Given the description of an element on the screen output the (x, y) to click on. 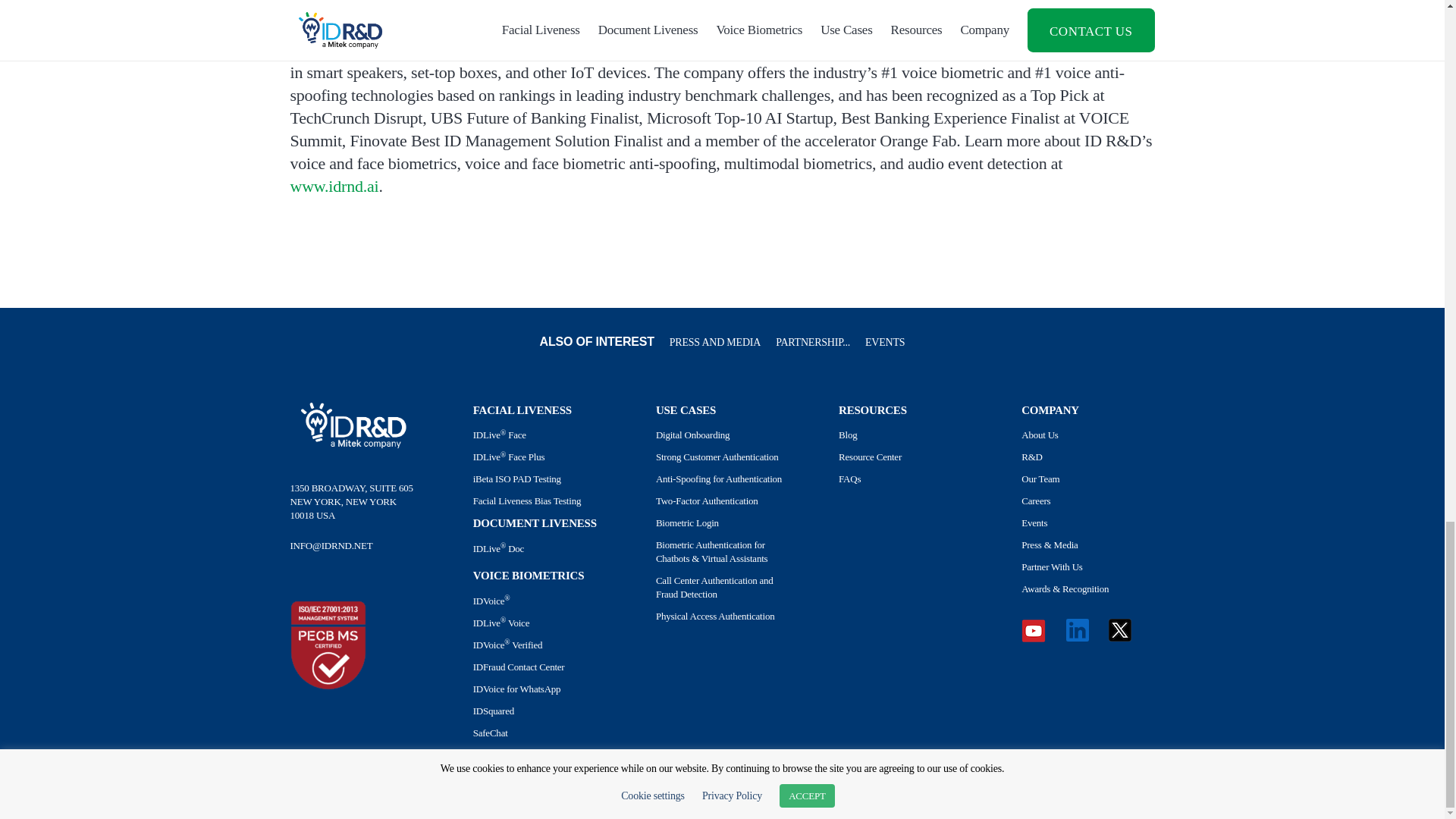
Share this (333, 290)
Tweet this (302, 290)
www.idrnd.ai (333, 185)
